Given the description of an element on the screen output the (x, y) to click on. 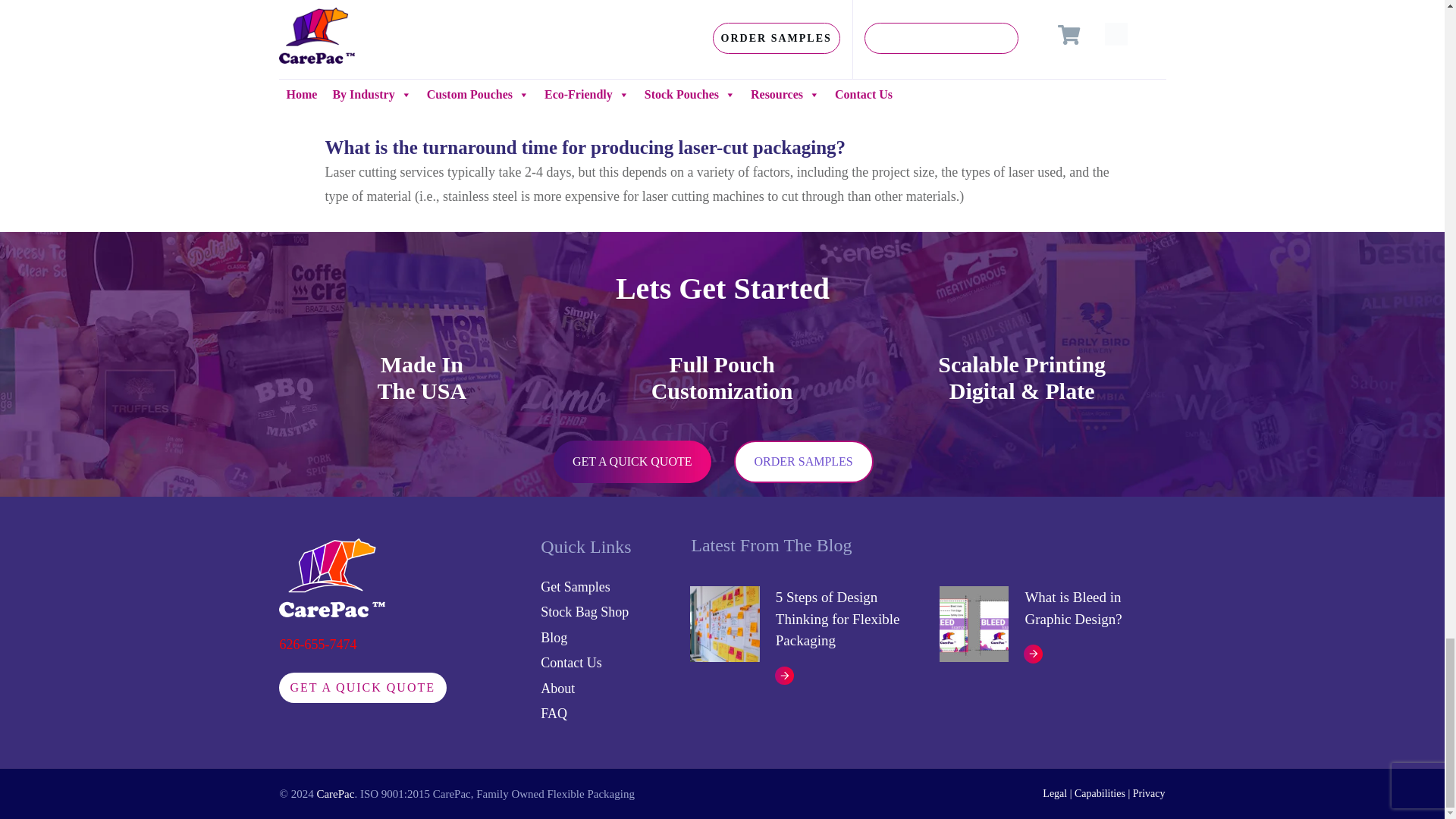
5 Steps of Design Thinking for Flexible Packaging (837, 618)
Click to Connect 6263146598 (317, 644)
What is Bleed in Graphic Design? (1073, 607)
